Given the description of an element on the screen output the (x, y) to click on. 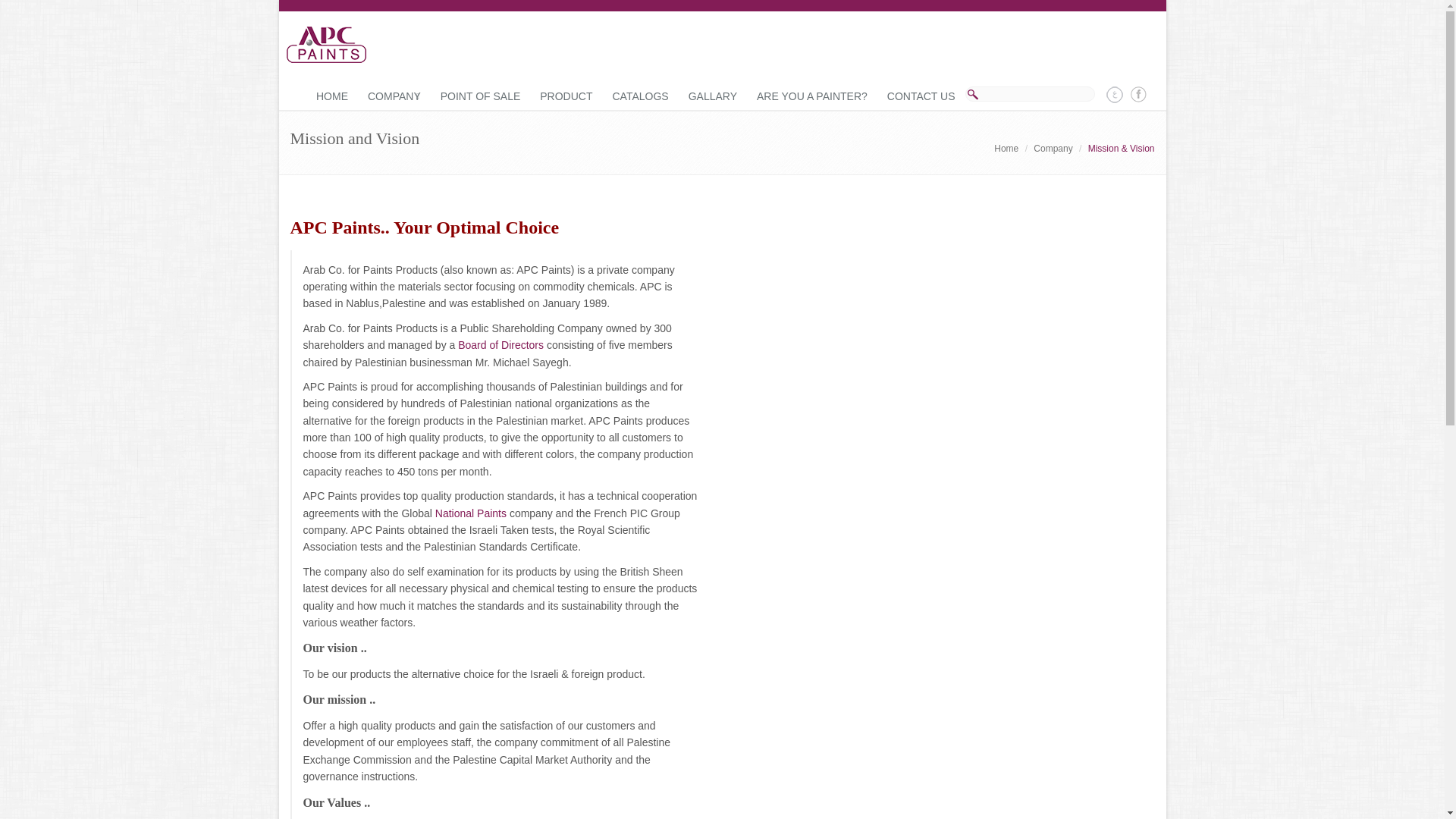
COMPANY (394, 96)
HOME (331, 96)
GALLARY (712, 96)
POINT OF SALE (480, 96)
PRODUCT (565, 96)
National Paints (470, 512)
CATALOGS (640, 96)
Board of Directors (500, 345)
ARE YOU A PAINTER? (811, 96)
